Given the description of an element on the screen output the (x, y) to click on. 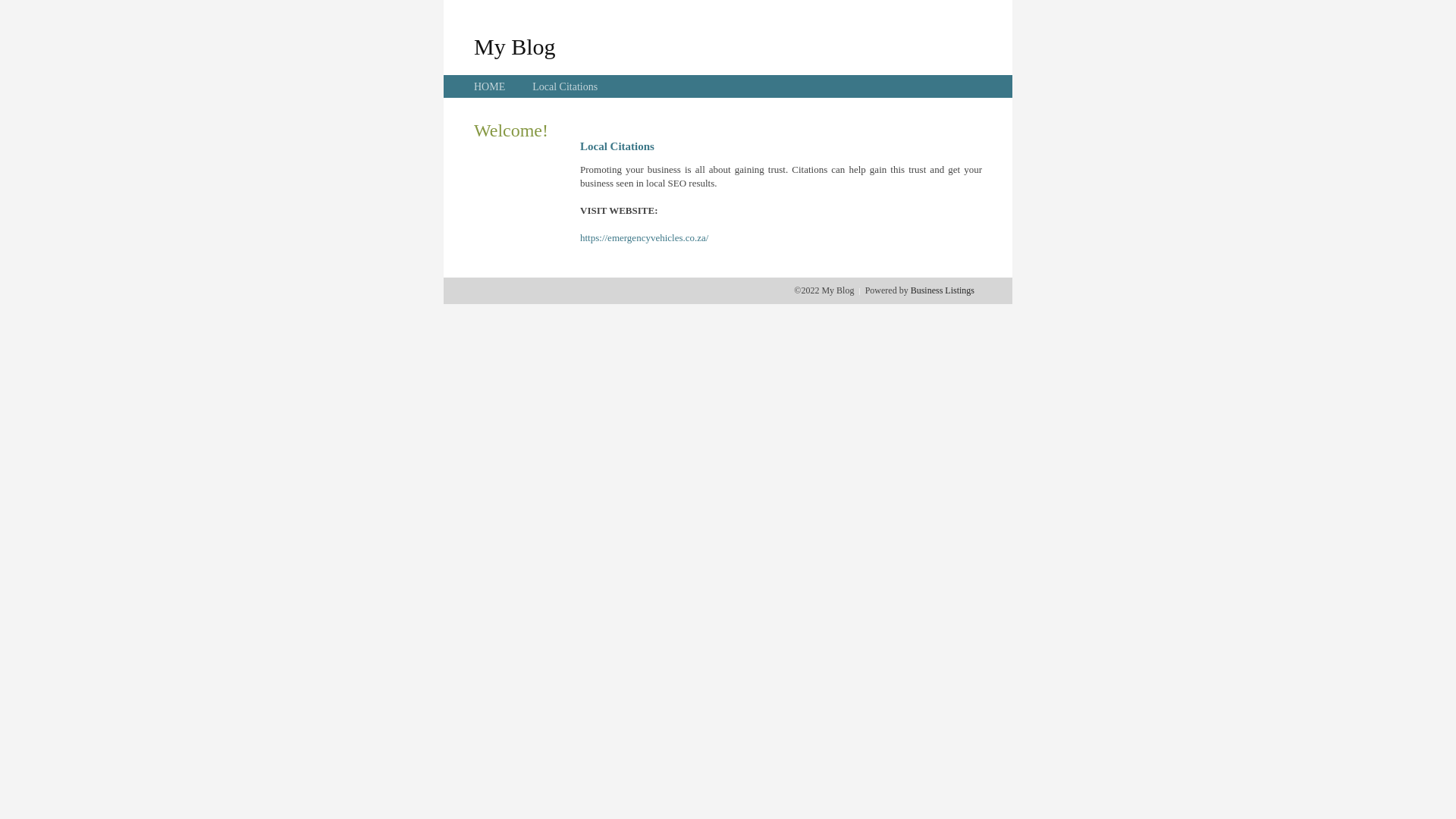
Business Listings Element type: text (942, 290)
Local Citations Element type: text (564, 86)
HOME Element type: text (489, 86)
My Blog Element type: text (514, 46)
https://emergencyvehicles.co.za/ Element type: text (644, 237)
